Given the description of an element on the screen output the (x, y) to click on. 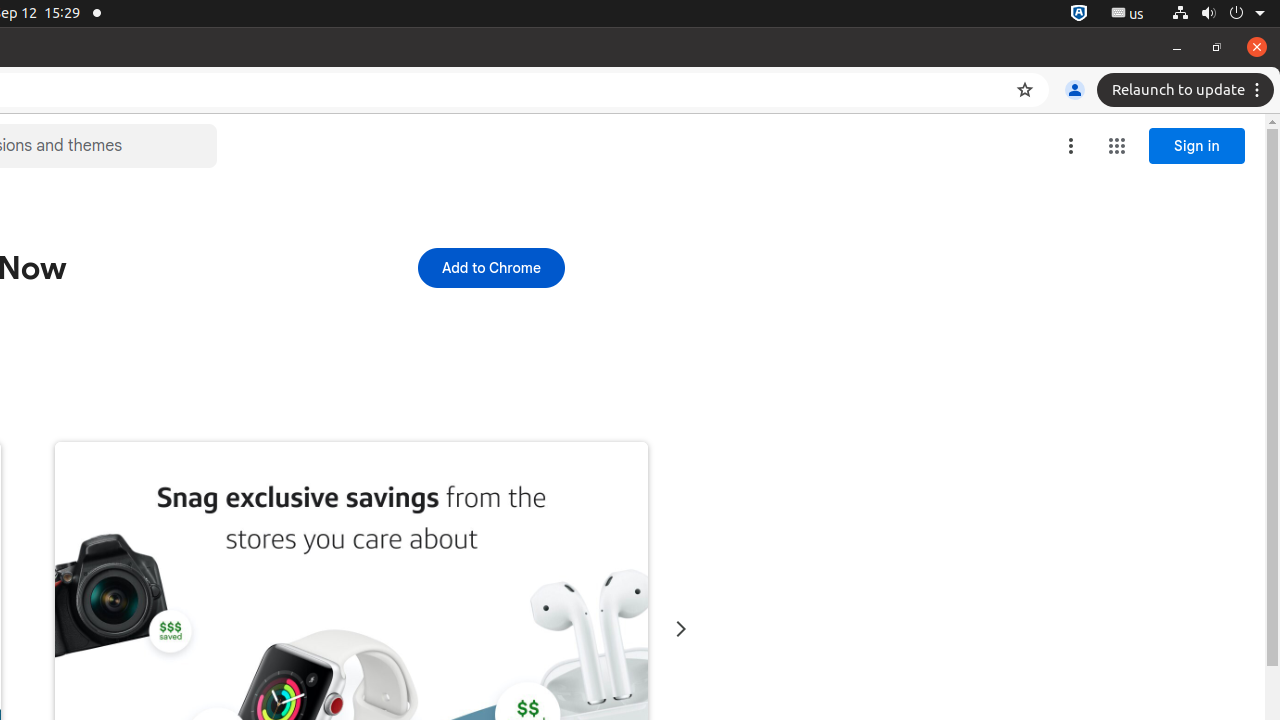
Add to Chrome Element type: push-button (491, 268)
:1.72/StatusNotifierItem Element type: menu (1079, 13)
:1.21/StatusNotifierItem Element type: menu (1127, 13)
Sign in Element type: link (1197, 146)
You Element type: push-button (1075, 90)
